Given the description of an element on the screen output the (x, y) to click on. 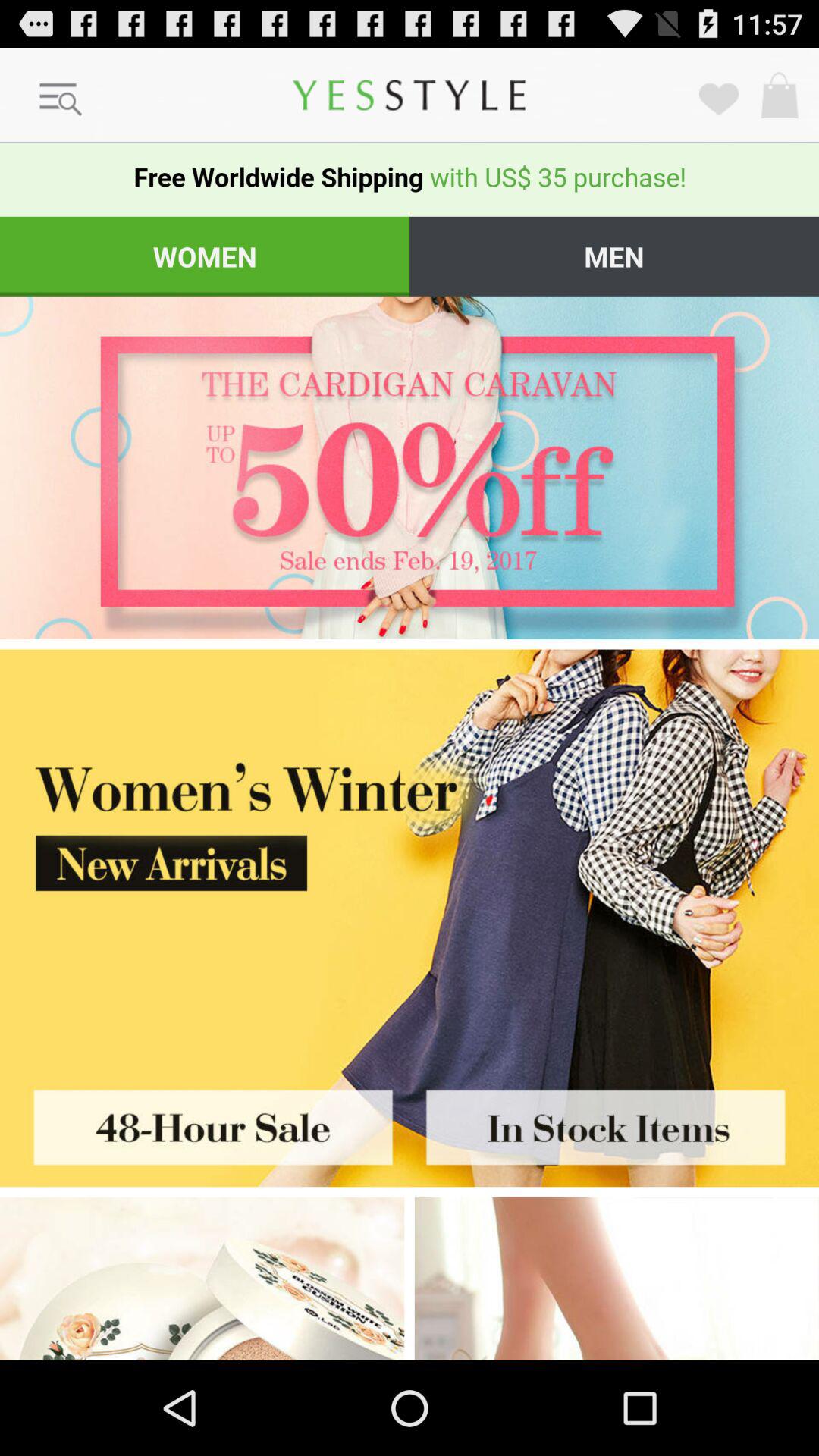
advertisement area (616, 1278)
